Given the description of an element on the screen output the (x, y) to click on. 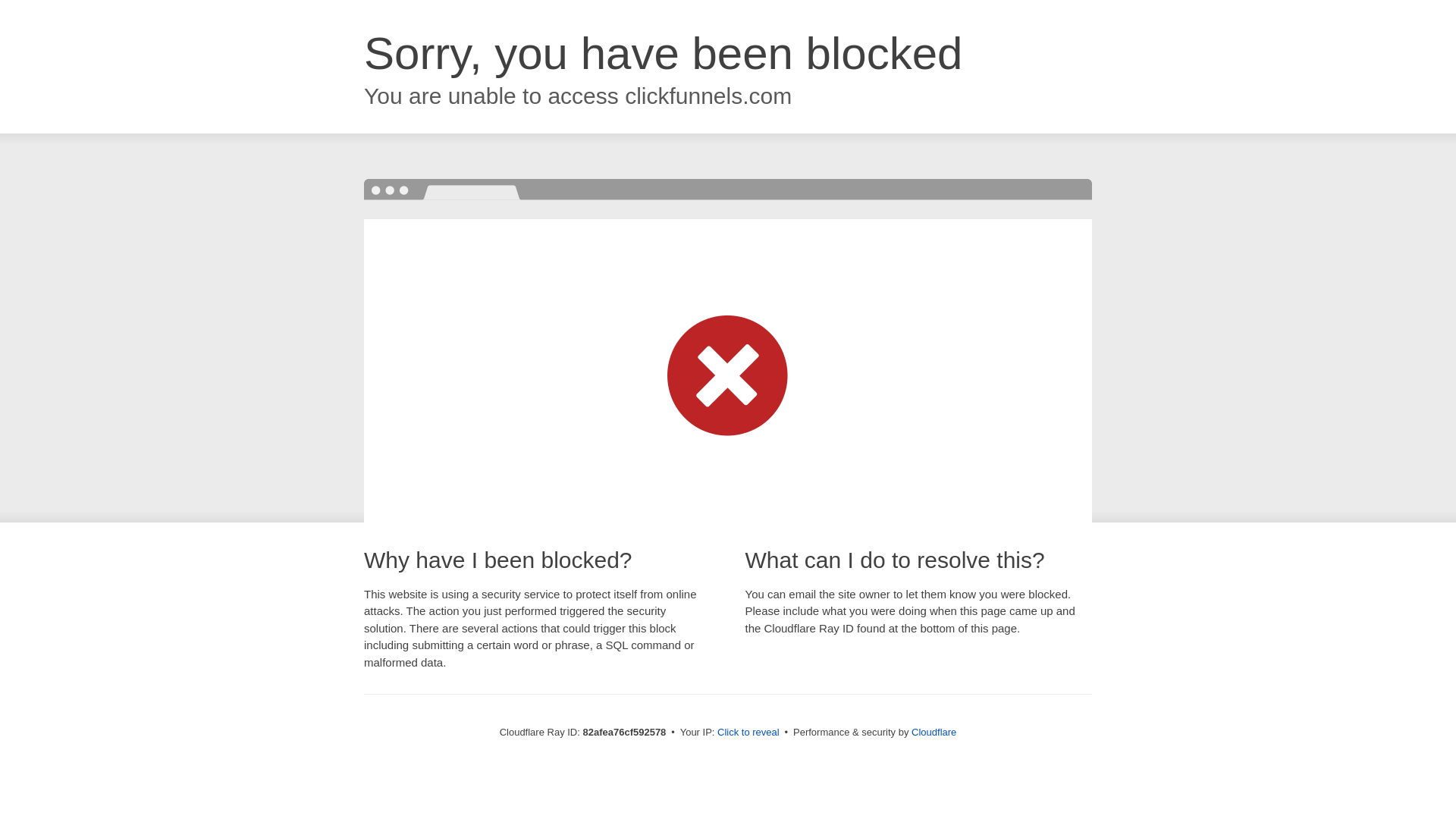
Cloudflare Element type: text (933, 731)
Click to reveal Element type: text (748, 732)
